Given the description of an element on the screen output the (x, y) to click on. 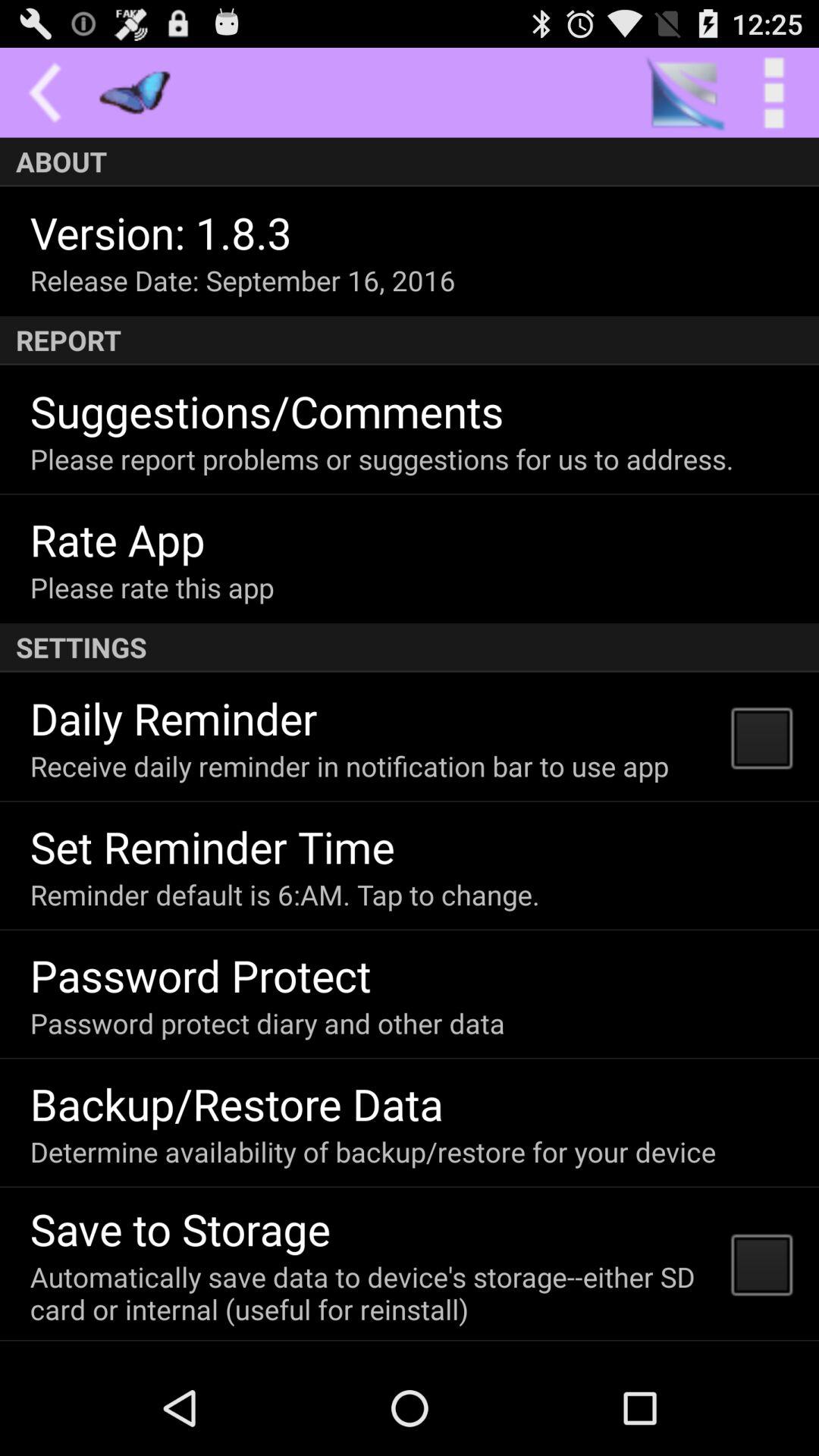
turn off the app above don t send (370, 1293)
